Given the description of an element on the screen output the (x, y) to click on. 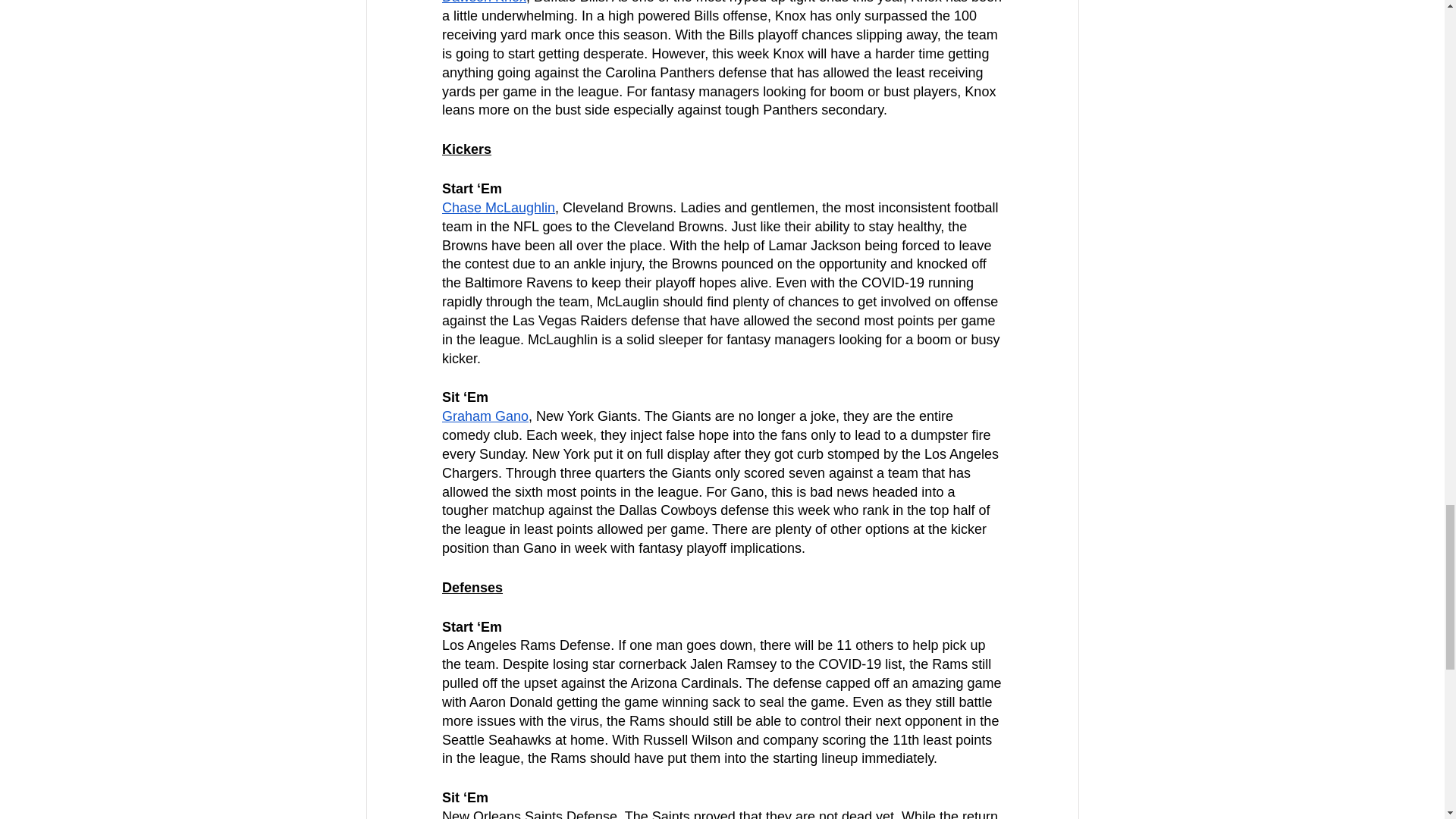
Chase McLaughlin (497, 207)
Graham Gano (484, 416)
Dawson Knox (483, 2)
